Given the description of an element on the screen output the (x, y) to click on. 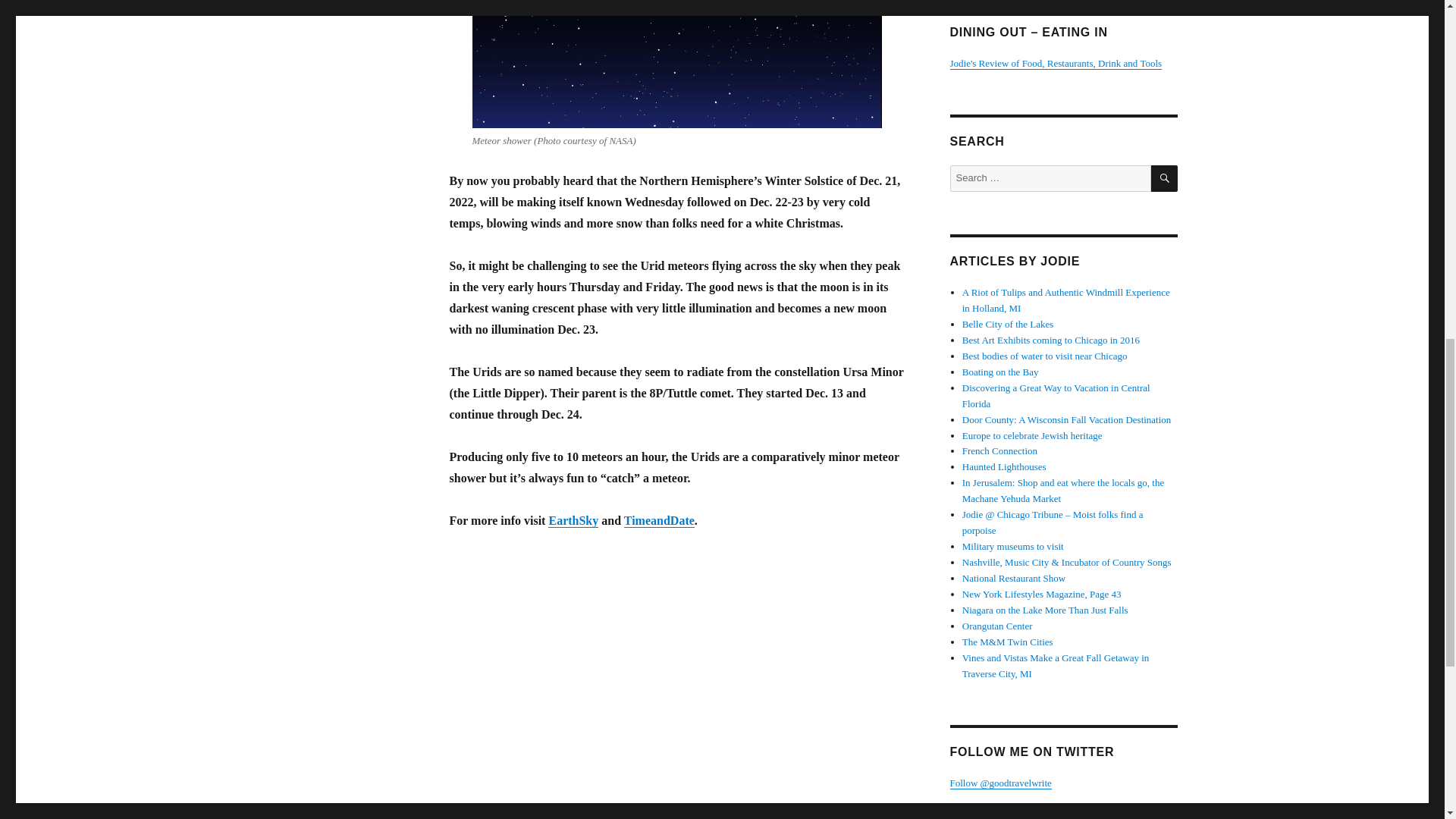
Best Art Exhibits coming to Chicago in 2016 (1051, 339)
TimeandDate (659, 520)
Door County: A Wisconsin Fall Vacation Destination (1067, 419)
SEARCH (1164, 178)
Military museums to visit (1013, 546)
EarthSky (573, 520)
Best bodies of water to visit near Chicago (1044, 355)
Discovering a Great Way to Vacation in Central Florida (1056, 395)
Jodie's Review of Food, Restaurants, Drink and Tools (1055, 62)
Boating on the Bay (1000, 371)
